Given the description of an element on the screen output the (x, y) to click on. 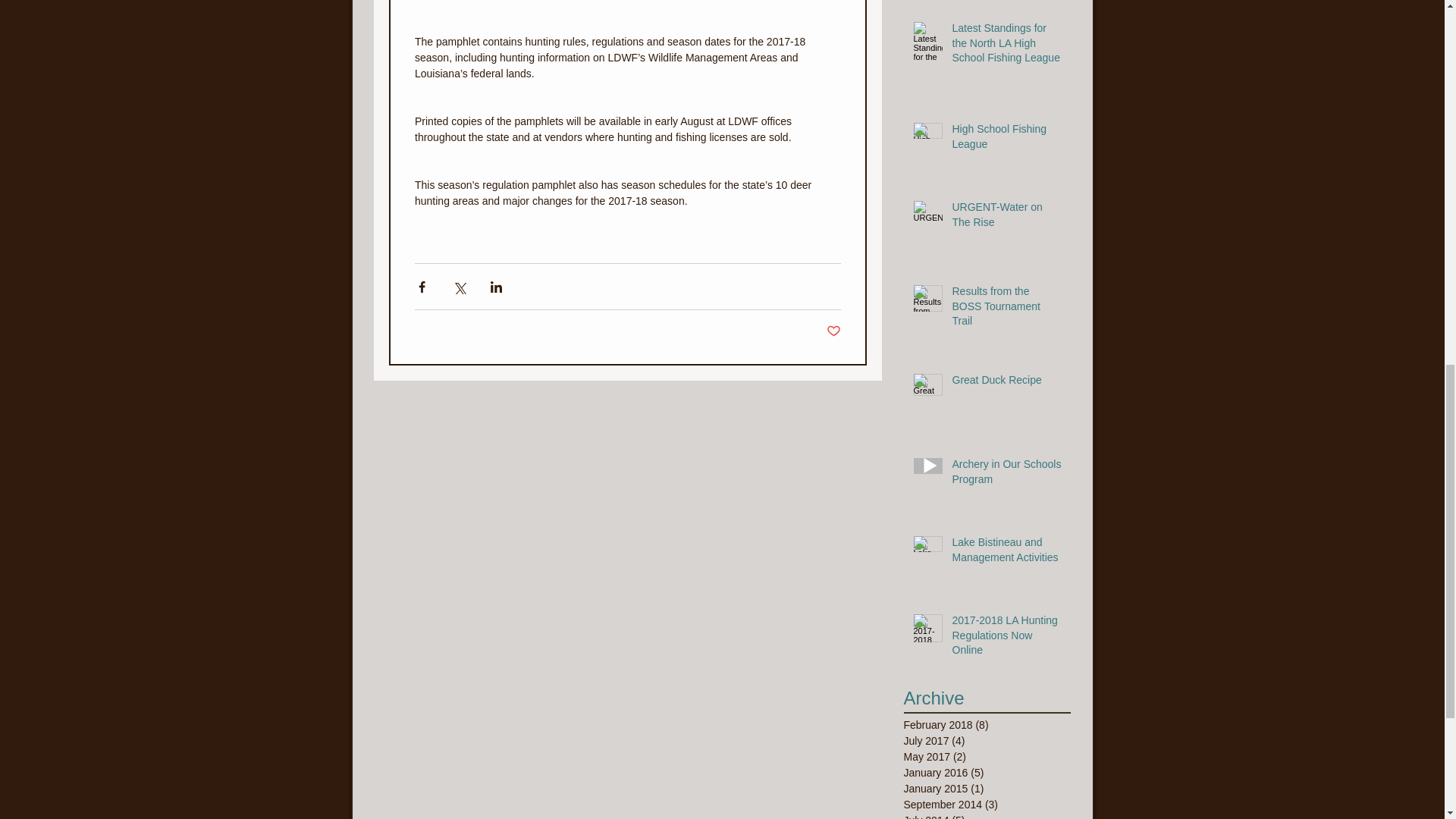
Results from the BOSS Tournament Trail (1006, 309)
Latest Standings for the North LA High School Fishing League (1006, 46)
Lake Bistineau and Management Activities (1006, 552)
Great Duck Recipe (1006, 383)
Post not marked as liked (834, 331)
Archery in Our Schools Program (1006, 475)
High School Fishing League (1006, 140)
URGENT-Water on The Rise (1006, 217)
2017-2018 LA Hunting Regulations Now Online (1006, 638)
